Given the description of an element on the screen output the (x, y) to click on. 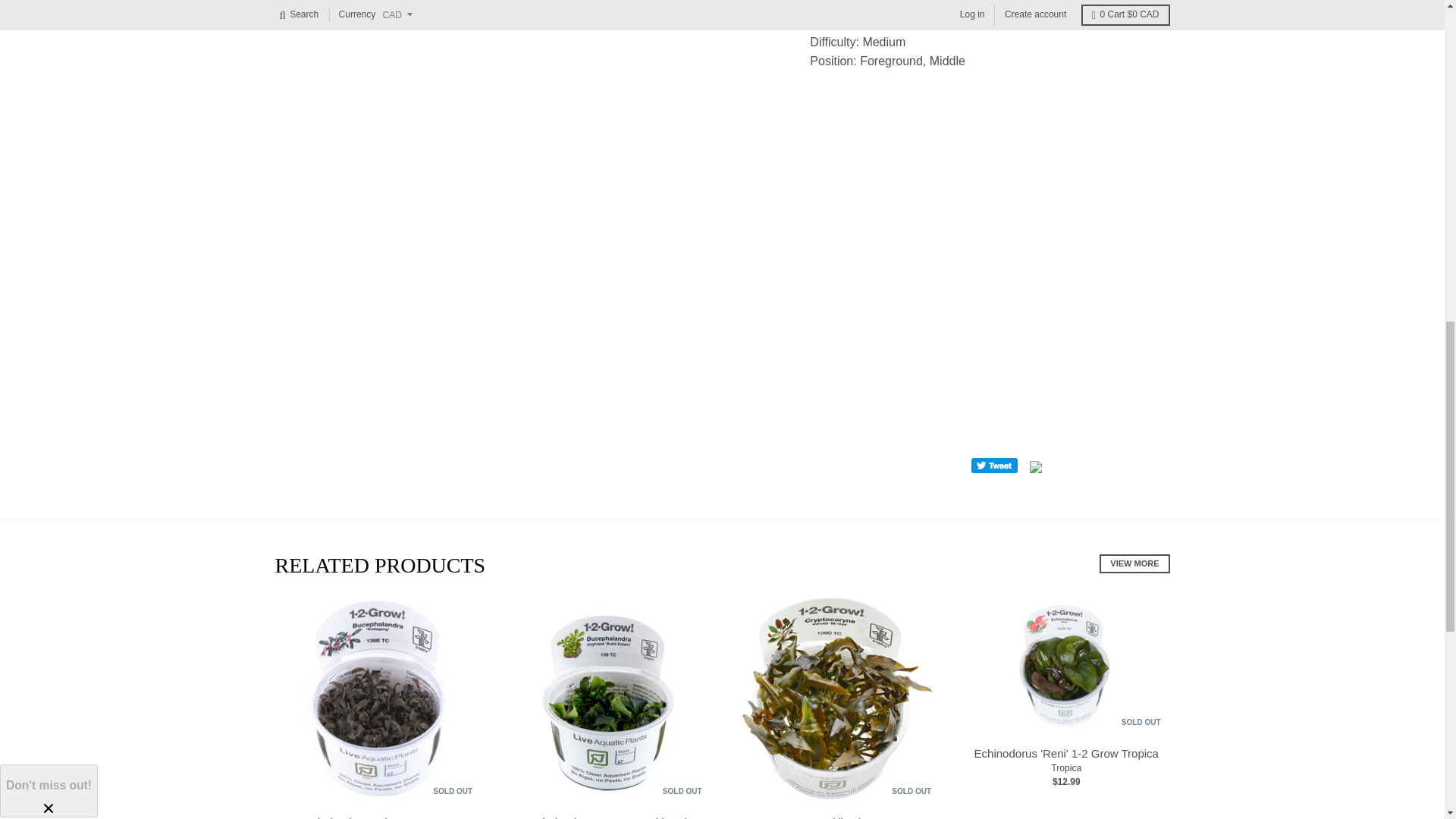
Tropica (1066, 767)
YouTube video player (989, 249)
